Given the description of an element on the screen output the (x, y) to click on. 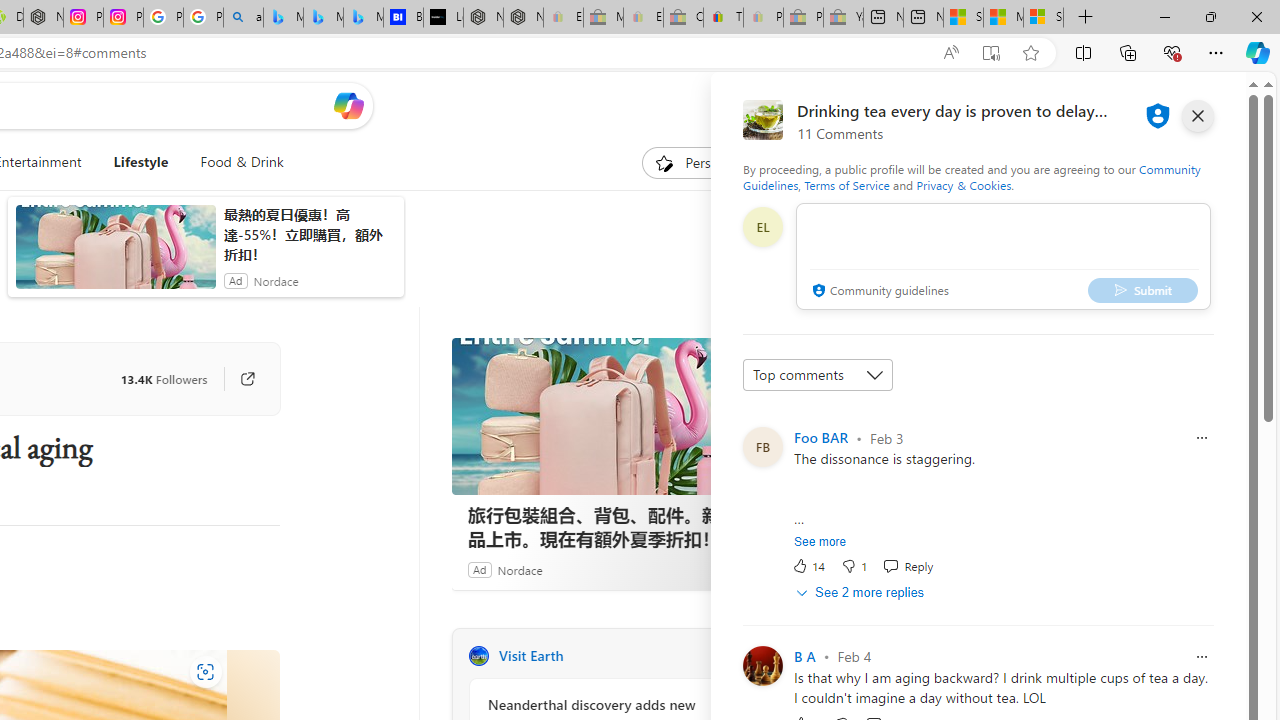
New Tab (1085, 17)
Report comment (1201, 656)
Foo BAR (820, 437)
Community guidelines (878, 291)
Enter Immersive Reader (F9) (991, 53)
B A (804, 655)
Microsoft Bing Travel - Shangri-La Hotel Bangkok (363, 17)
Reply Reply Comment (908, 565)
Terms of Service (846, 184)
Lifestyle (140, 162)
Ad (479, 569)
Open Copilot (347, 105)
Food & Drink (234, 162)
Submit (1143, 290)
Profile Picture (762, 665)
